Given the description of an element on the screen output the (x, y) to click on. 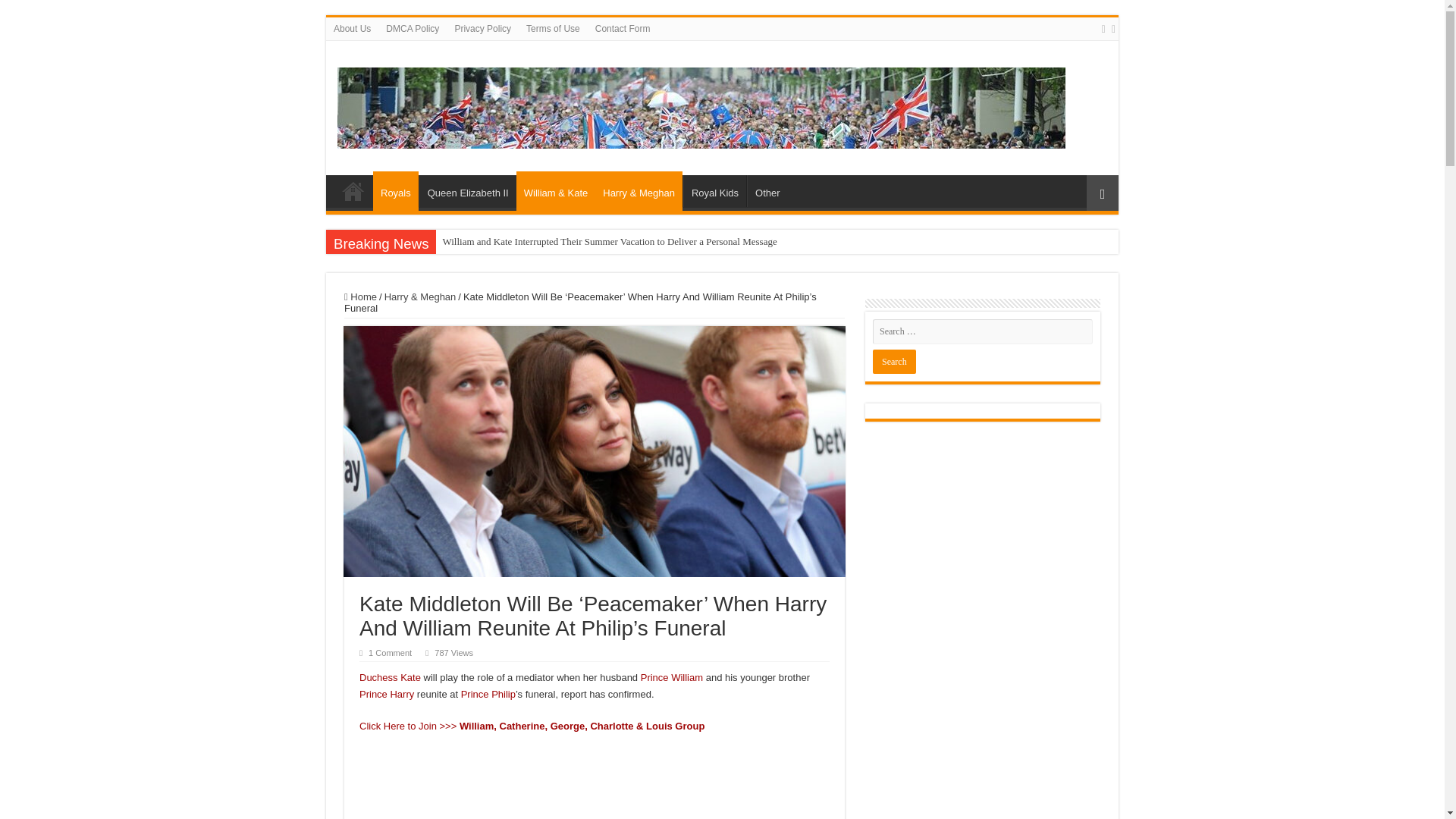
Search (893, 361)
Terms of Use (553, 28)
Prince Philip (488, 694)
DMCA Policy (412, 28)
Other (766, 191)
Advertisement (594, 784)
Prince Harry (386, 694)
Royals (395, 190)
Privacy Policy (482, 28)
